Given the description of an element on the screen output the (x, y) to click on. 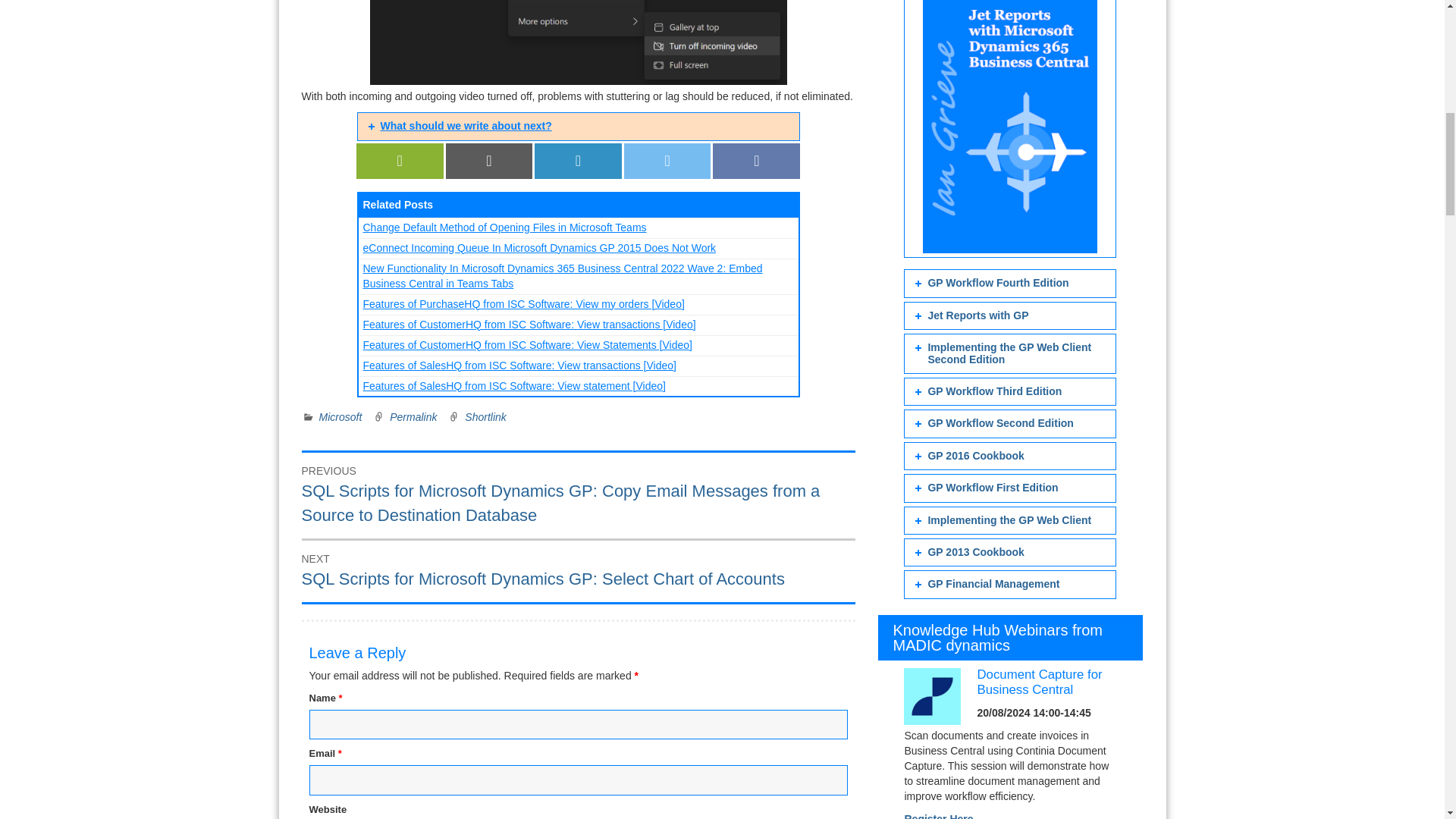
Change Default Method of Opening Files in Microsoft Teams (504, 227)
